Given the description of an element on the screen output the (x, y) to click on. 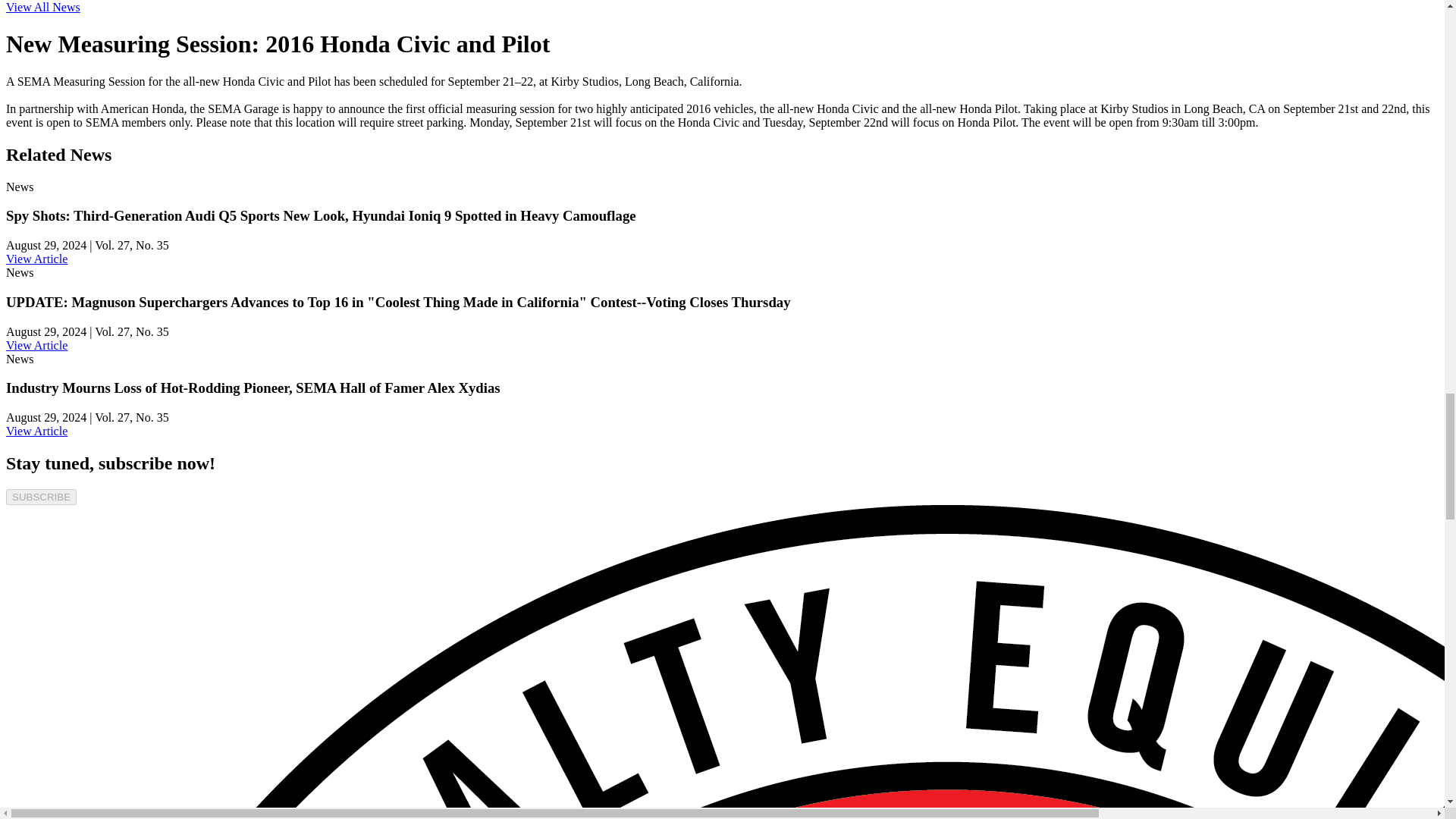
SUBSCRIBE (41, 496)
View All News (42, 6)
View Article (35, 431)
View Article (35, 258)
eNews archive (42, 6)
View Article (35, 345)
